Given the description of an element on the screen output the (x, y) to click on. 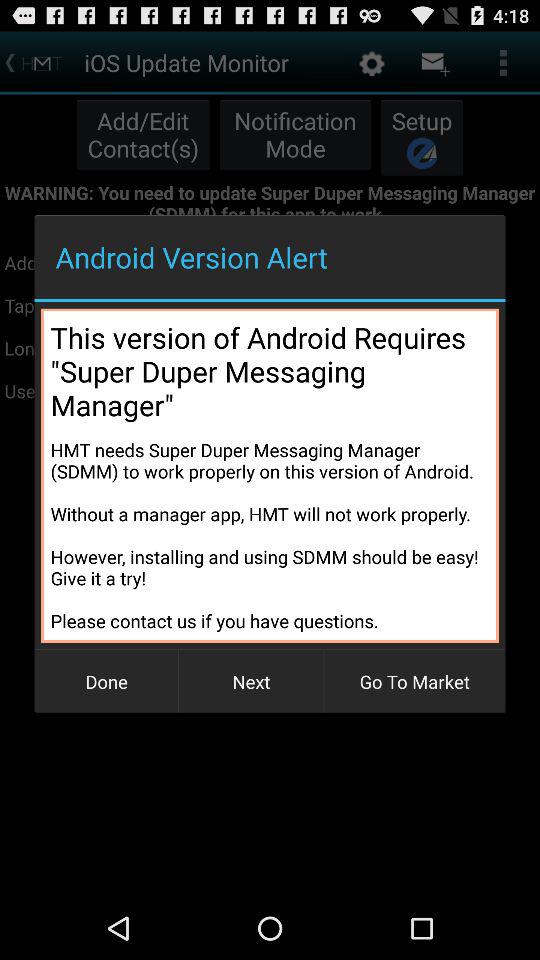
choose button next to done (251, 681)
